Given the description of an element on the screen output the (x, y) to click on. 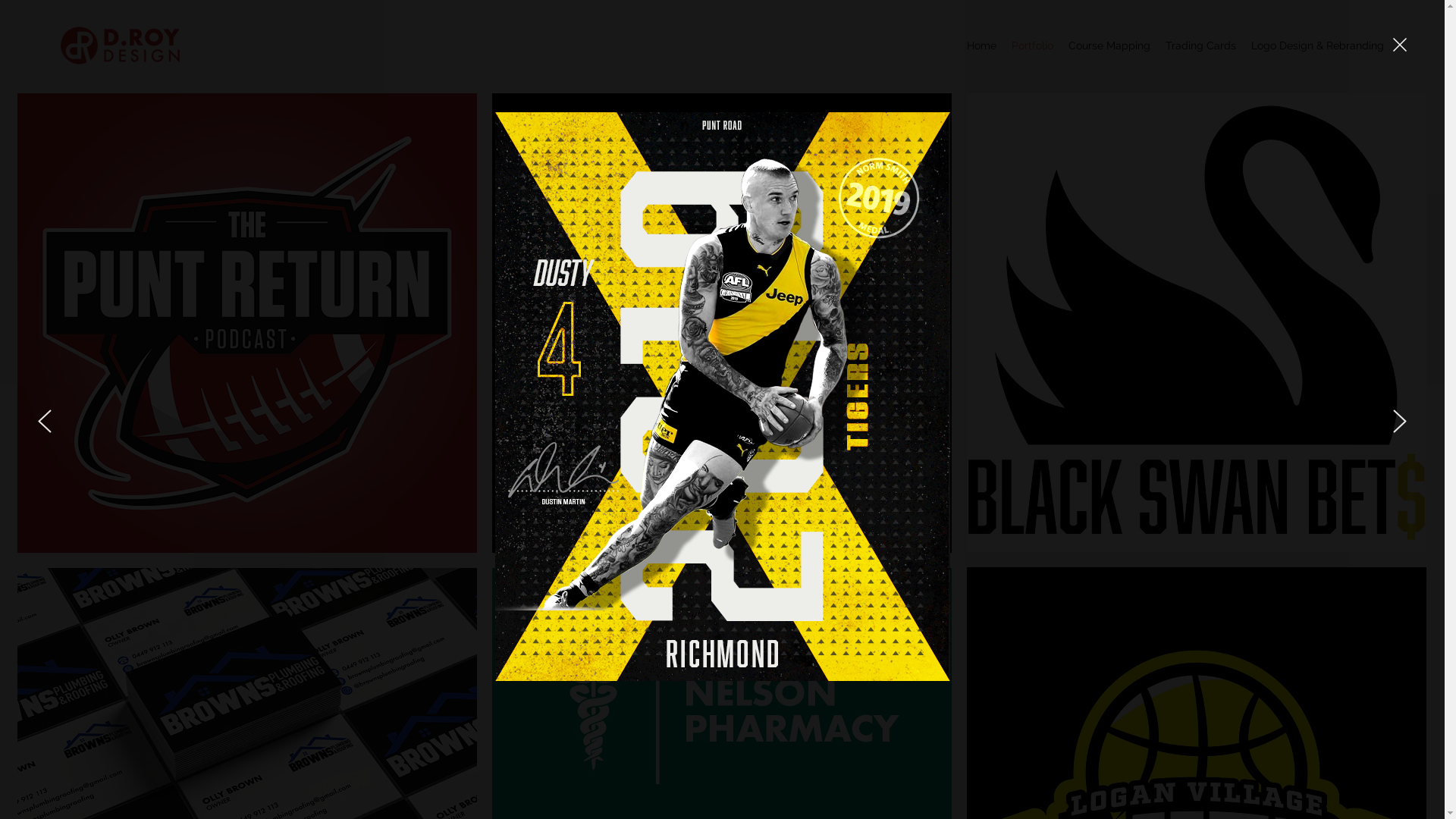
Home Element type: text (981, 45)
Logo Design & Rebranding Element type: text (1317, 45)
Portfolio Element type: text (1032, 45)
Course Mapping Element type: text (1108, 45)
Trading Cards Element type: text (1200, 45)
